Given the description of an element on the screen output the (x, y) to click on. 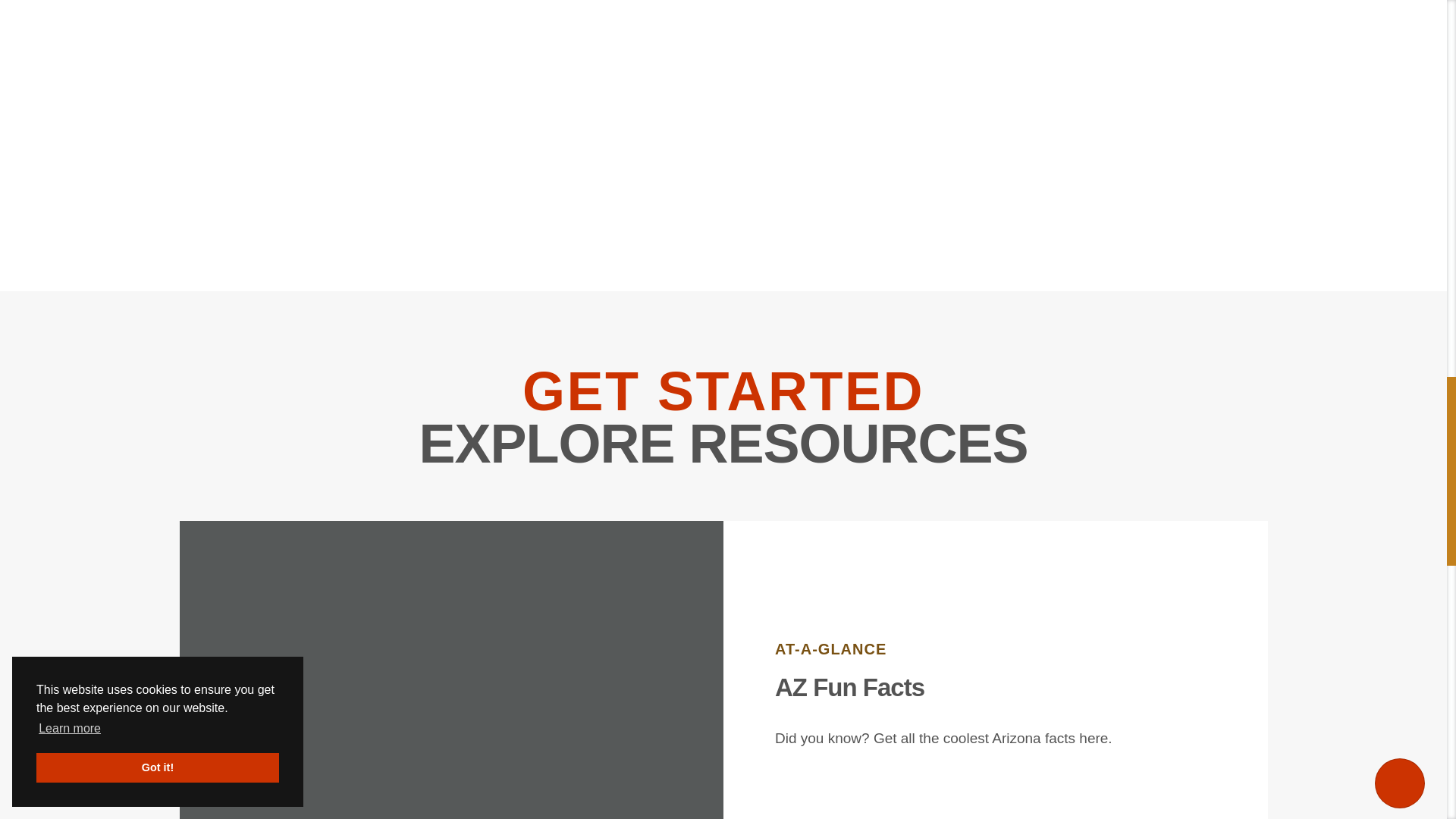
AZ Fun Facts (849, 687)
